Given the description of an element on the screen output the (x, y) to click on. 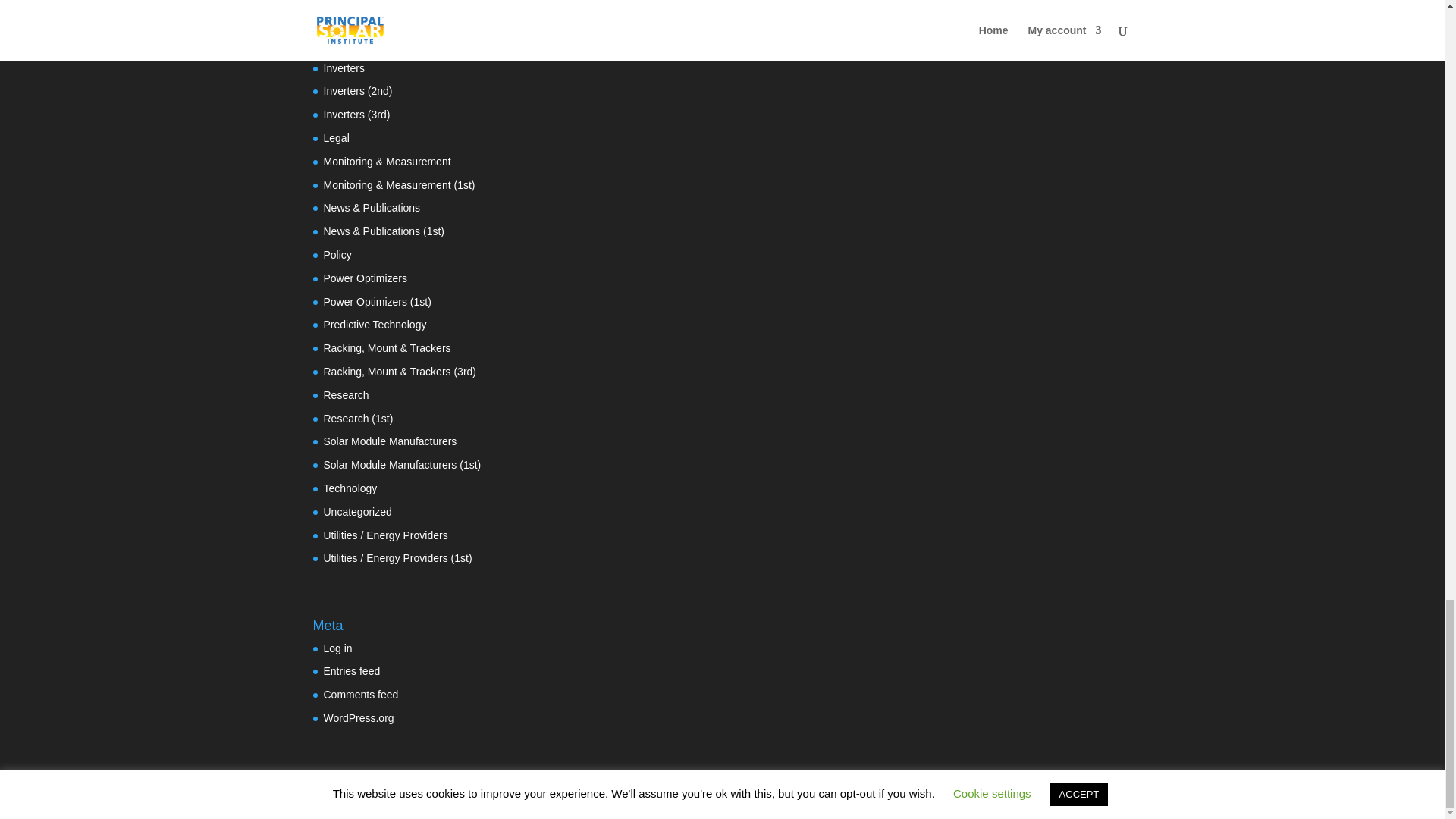
Premium WordPress Themes (414, 797)
